Given the description of an element on the screen output the (x, y) to click on. 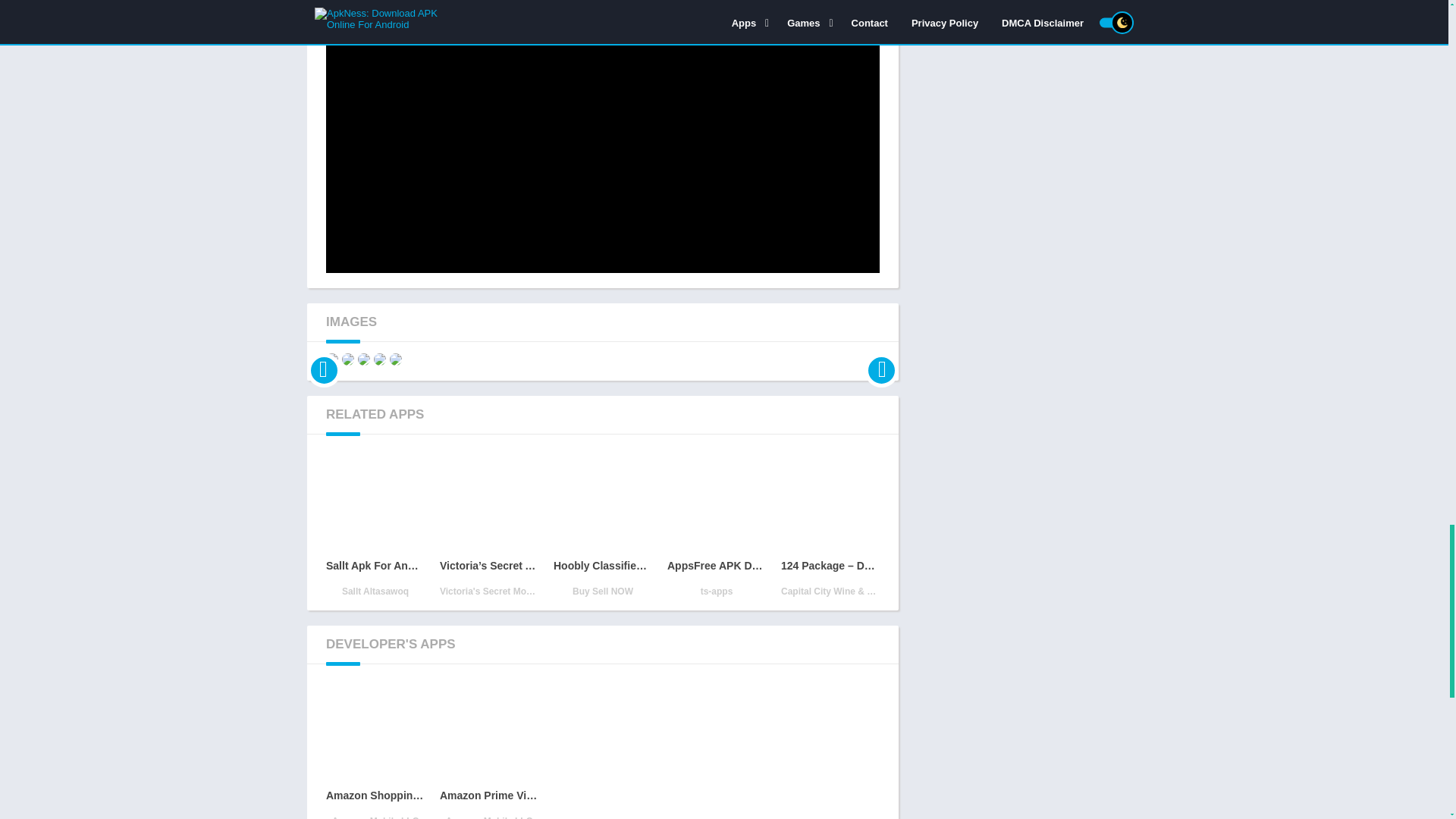
Sallt Apk For Android Free Download (375, 525)
Hoobly Classifieds for Pets Apk Latest Version Free Download (602, 525)
AppsFree APK Download Latest Version (715, 525)
Amazon Prime Video Apk Download For Android (488, 751)
